Given the description of an element on the screen output the (x, y) to click on. 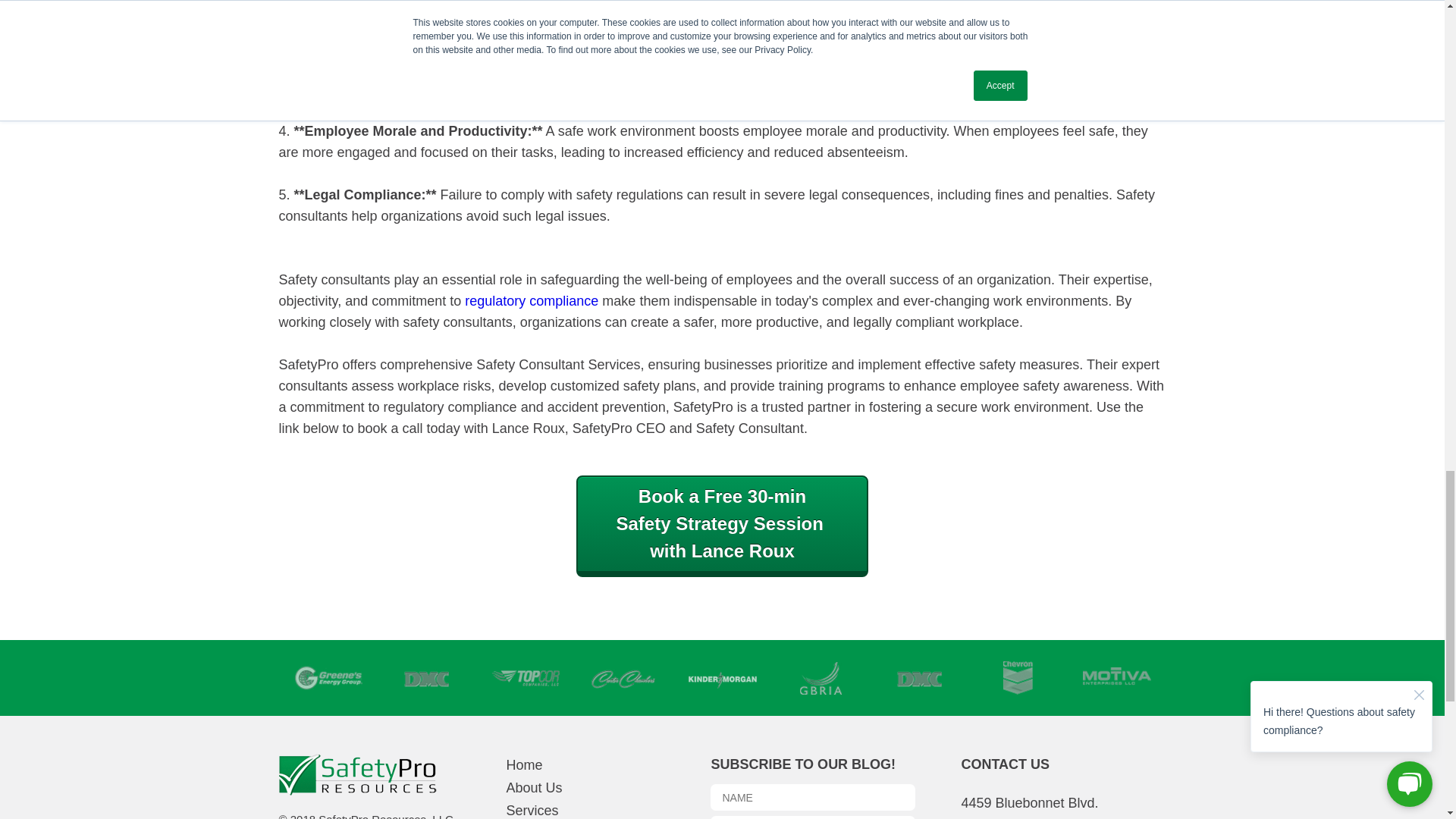
Home (523, 764)
Services (721, 526)
regulatory compliance (531, 809)
About Us (531, 300)
